Given the description of an element on the screen output the (x, y) to click on. 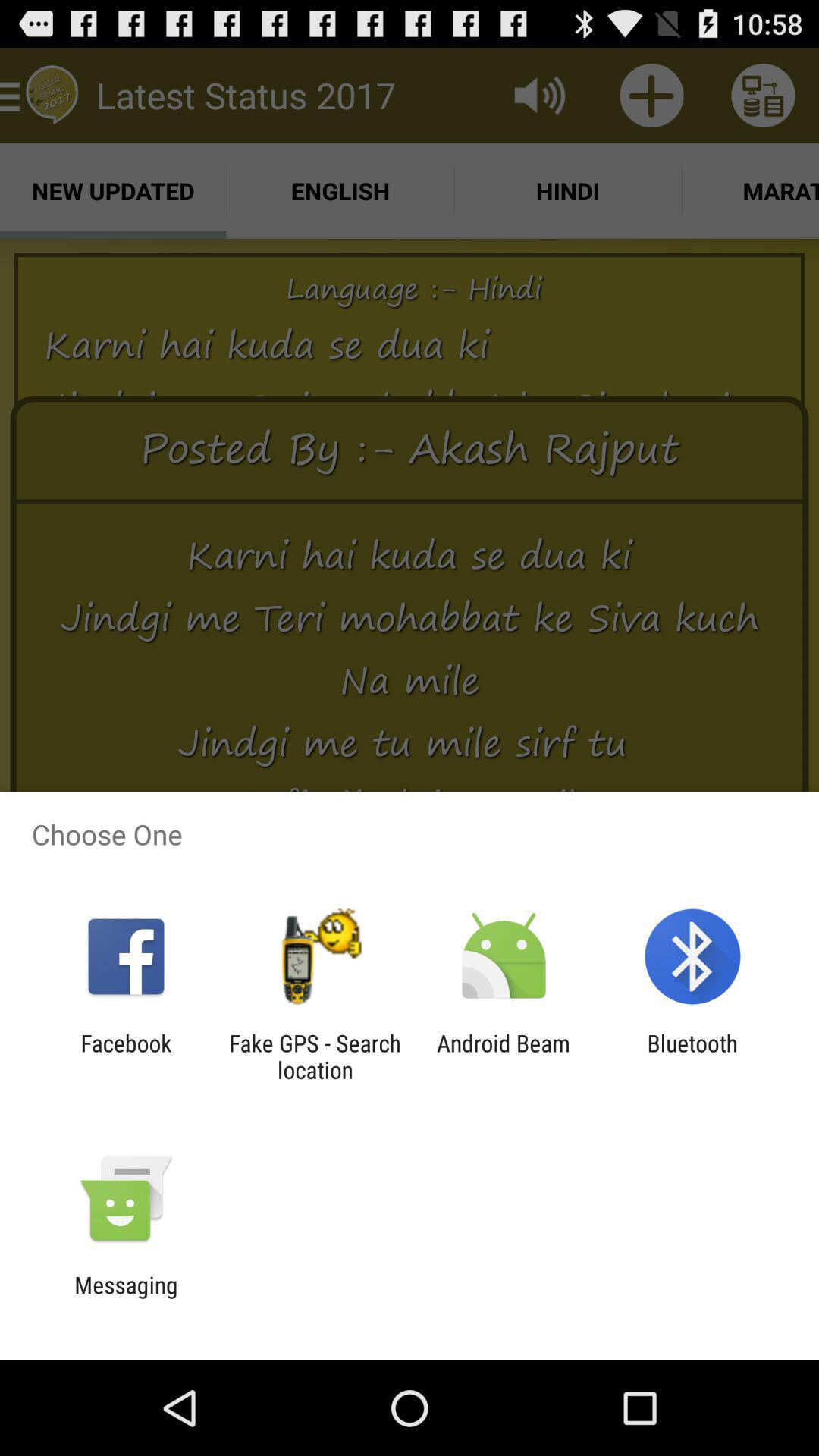
turn on the item to the right of facebook app (314, 1056)
